Given the description of an element on the screen output the (x, y) to click on. 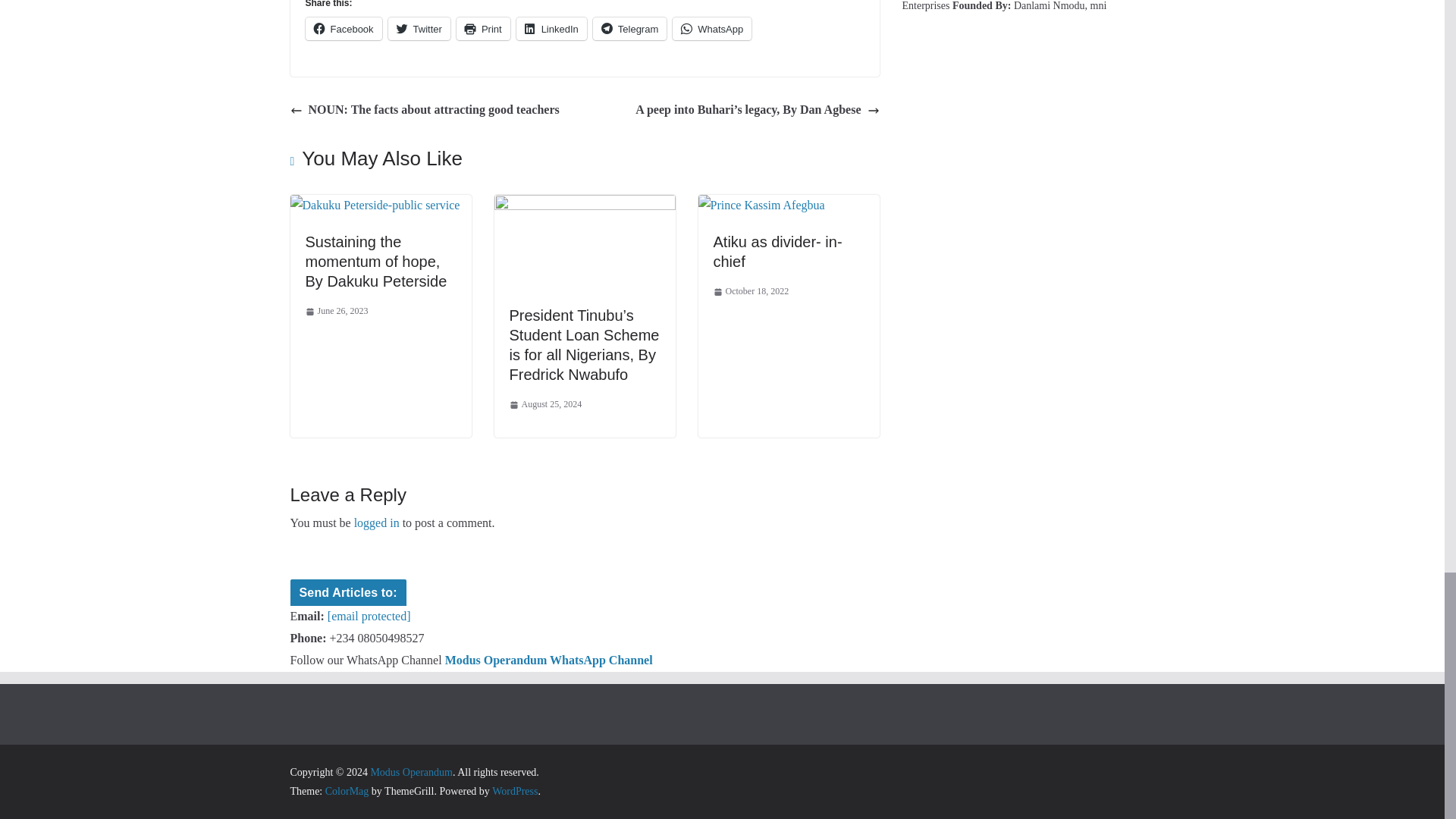
Click to share on Facebook (342, 28)
Click to share on LinkedIn (551, 28)
Atiku as divider- in- chief (777, 251)
Telegram (629, 28)
Sustaining the momentum of hope, By Dakuku Peterside (375, 261)
Twitter (418, 28)
June 26, 2023 (336, 311)
Facebook (342, 28)
Click to share on WhatsApp (711, 28)
October 18, 2022 (751, 291)
